Given the description of an element on the screen output the (x, y) to click on. 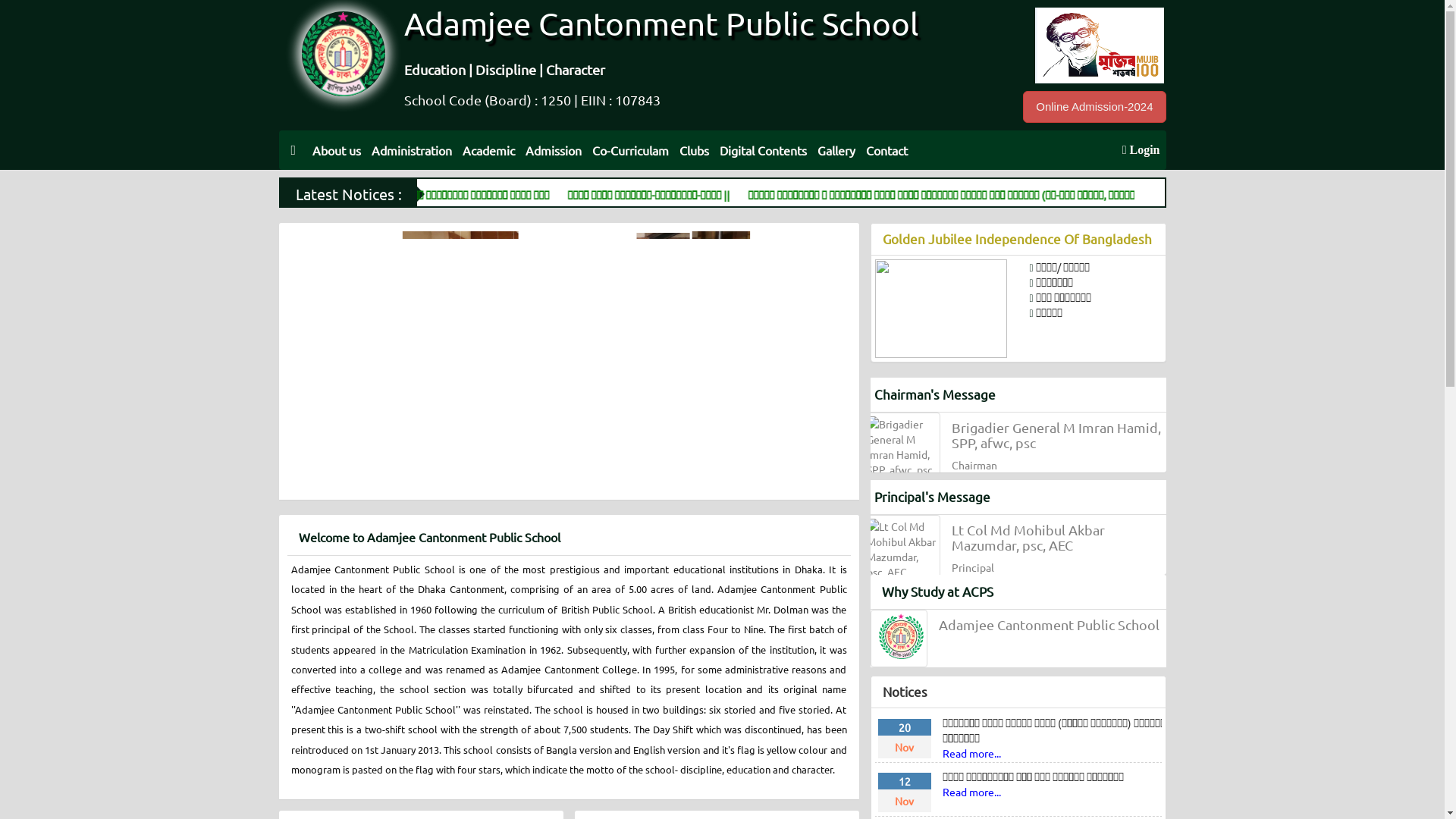
Administration Element type: text (411, 150)
Lt Col Md Mohibul Akbar Mazumdar, psc, AEC Element type: hover (901, 548)
Adamjee Cantonment Public School Element type: text (660, 22)
Co-Curriculam Element type: text (630, 150)
Principal Element type: hover (898, 638)
Online Admission-2024 Element type: text (1093, 106)
About us Element type: text (336, 150)
Admission Element type: text (553, 150)
Adamjee Cantonment Public School Element type: text (1052, 624)
Contact Element type: text (886, 150)
Digital Contents Element type: text (763, 150)
Read more... Element type: text (970, 791)
Gallery Element type: text (836, 150)
Read more... Element type: text (970, 752)
Login Element type: text (1141, 150)
Academic Element type: text (488, 150)
No Image Element type: hover (657, 397)
ACPS-LOGO Element type: hover (343, 53)
Brigadier General M Imran Hamid, SPP, afwc, psc Element type: hover (901, 446)
Clubs Element type: text (694, 150)
